Given the description of an element on the screen output the (x, y) to click on. 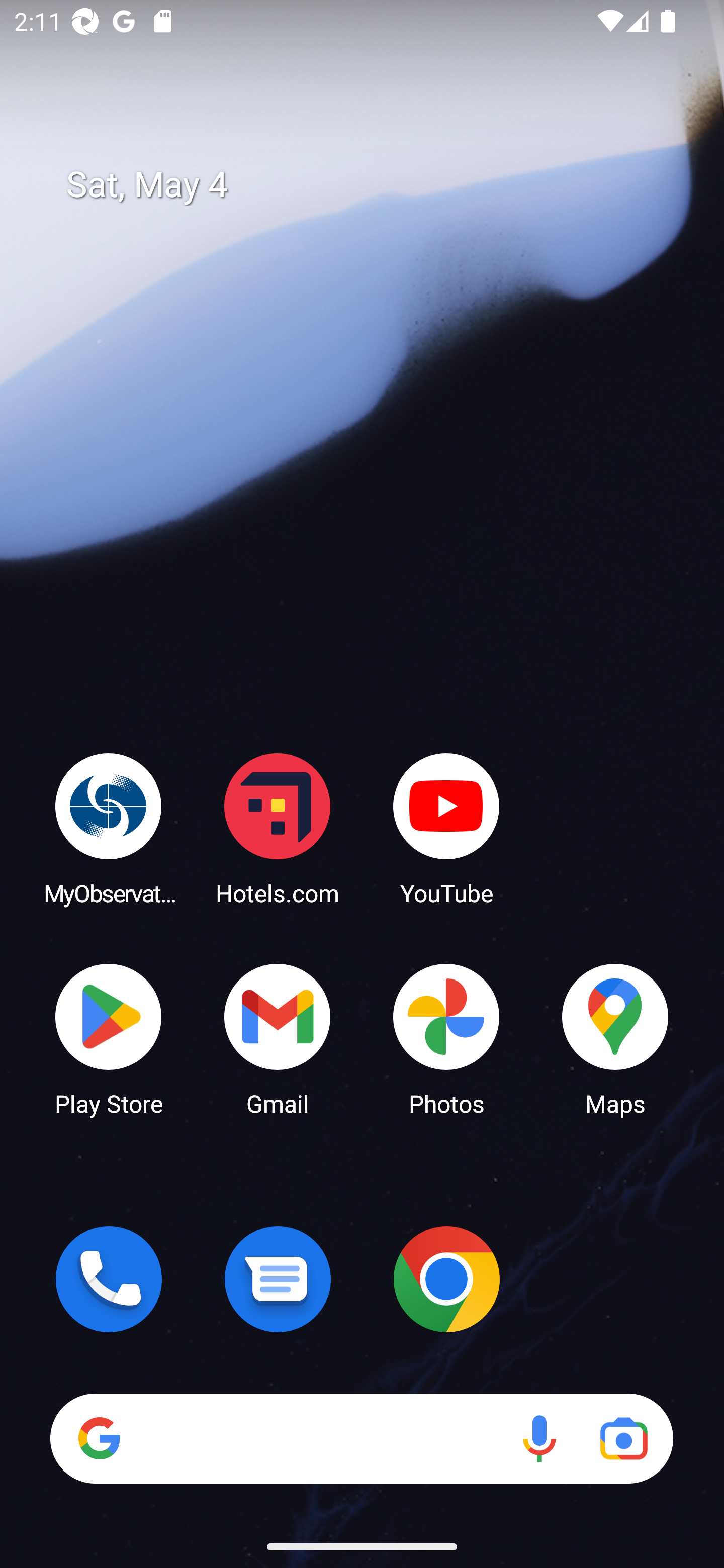
Sat, May 4 (375, 184)
MyObservatory (108, 828)
Hotels.com (277, 828)
YouTube (445, 828)
Play Store (108, 1038)
Gmail (277, 1038)
Photos (445, 1038)
Maps (615, 1038)
Phone (108, 1279)
Messages (277, 1279)
Chrome (446, 1279)
Search Voice search Google Lens (361, 1438)
Voice search (539, 1438)
Google Lens (623, 1438)
